Given the description of an element on the screen output the (x, y) to click on. 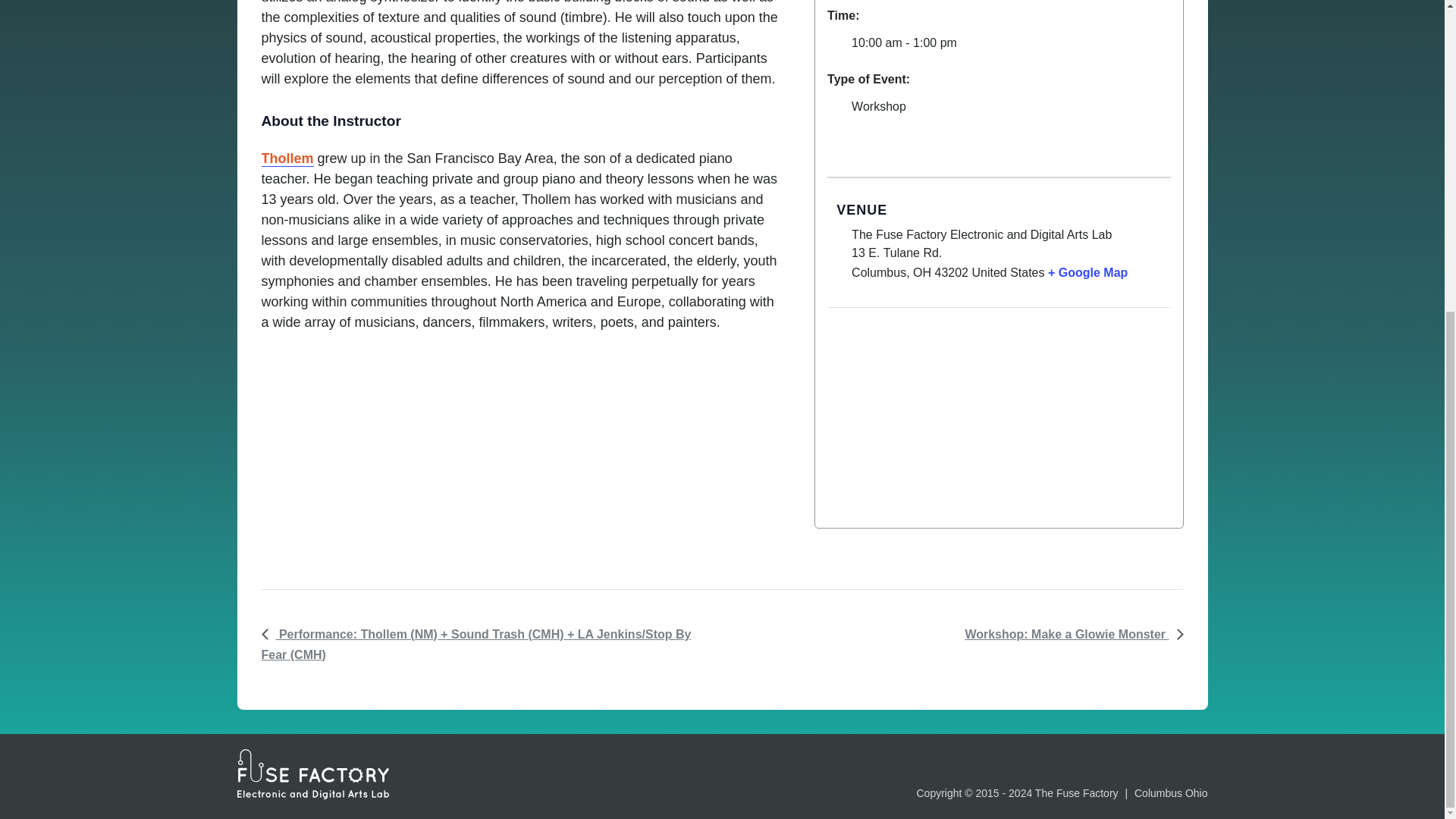
Ohio (921, 272)
Workshop: Make a Glowie Monster (1069, 634)
2018-04-21 (998, 43)
Thollem (286, 158)
Click to view a Google Map (1087, 272)
Fuse Factory (311, 774)
